Given the description of an element on the screen output the (x, y) to click on. 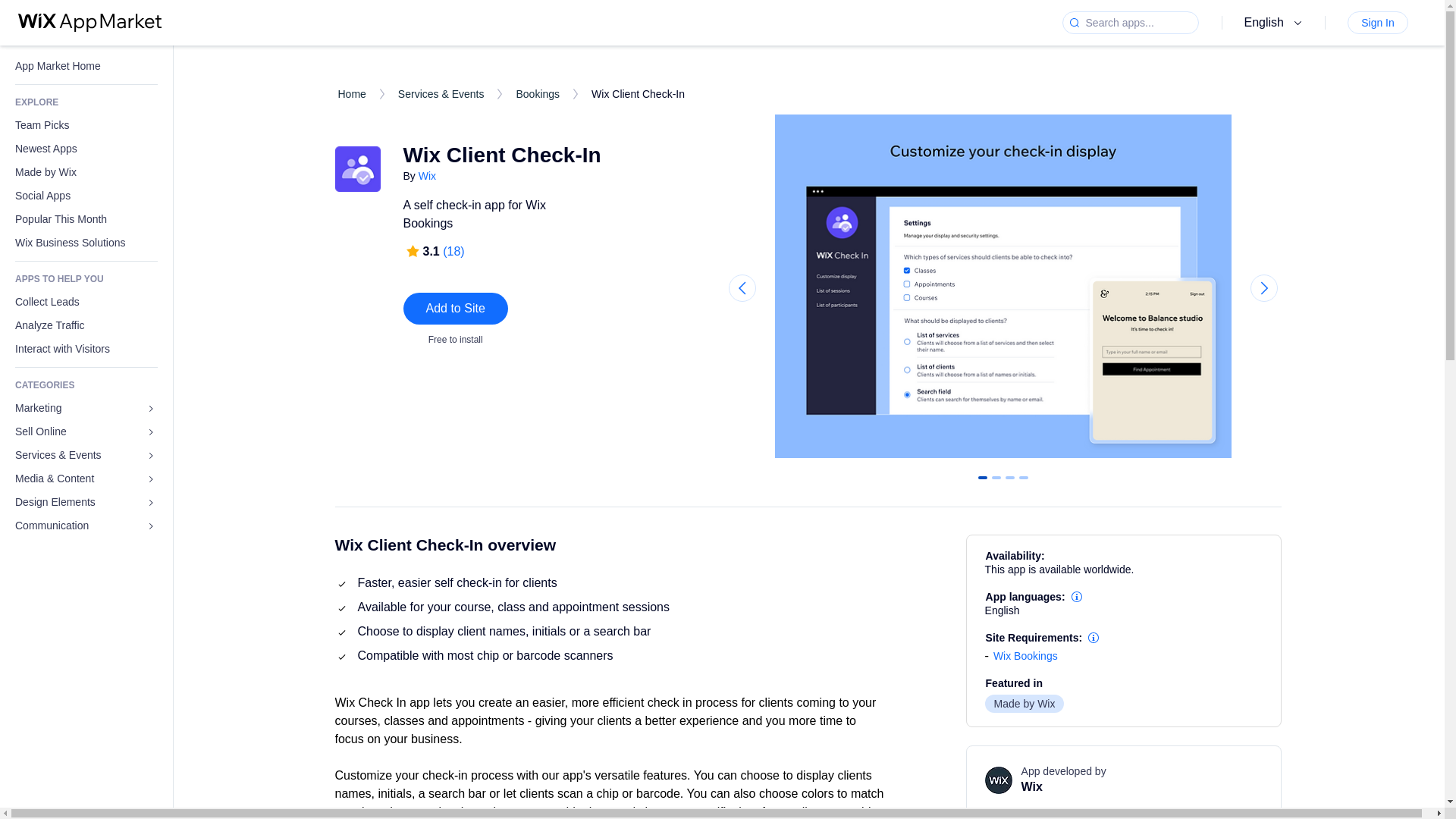
Wix Business Solutions (86, 242)
Interact with Visitors (86, 349)
Analyze Traffic (86, 325)
Sell Online (86, 431)
App Market Home (86, 65)
Sign In (1377, 22)
English (1275, 22)
Popular This Month (86, 219)
Newest Apps (86, 148)
Made by Wix (86, 172)
Team Picks (86, 125)
Social Apps (86, 196)
Marketing (86, 408)
Collect Leads (86, 301)
